Given the description of an element on the screen output the (x, y) to click on. 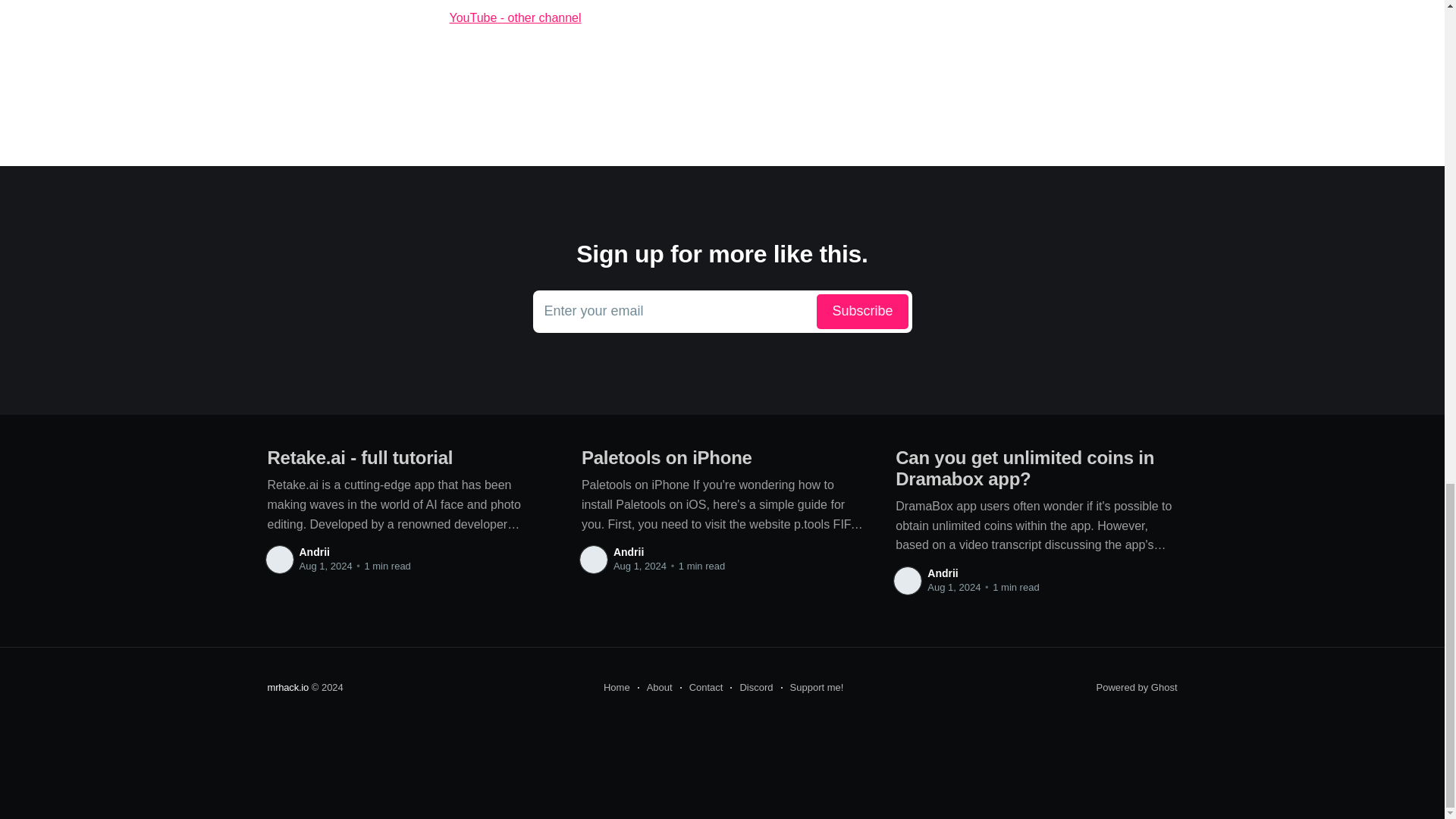
Discord (751, 687)
YouTube - other channel (721, 311)
Support me! (721, 17)
Home (812, 687)
Powered by Ghost (617, 687)
Andrii (1136, 686)
Andrii (627, 551)
About (313, 551)
Contact (654, 687)
mrhack.io (701, 687)
Andrii (287, 686)
